Given the description of an element on the screen output the (x, y) to click on. 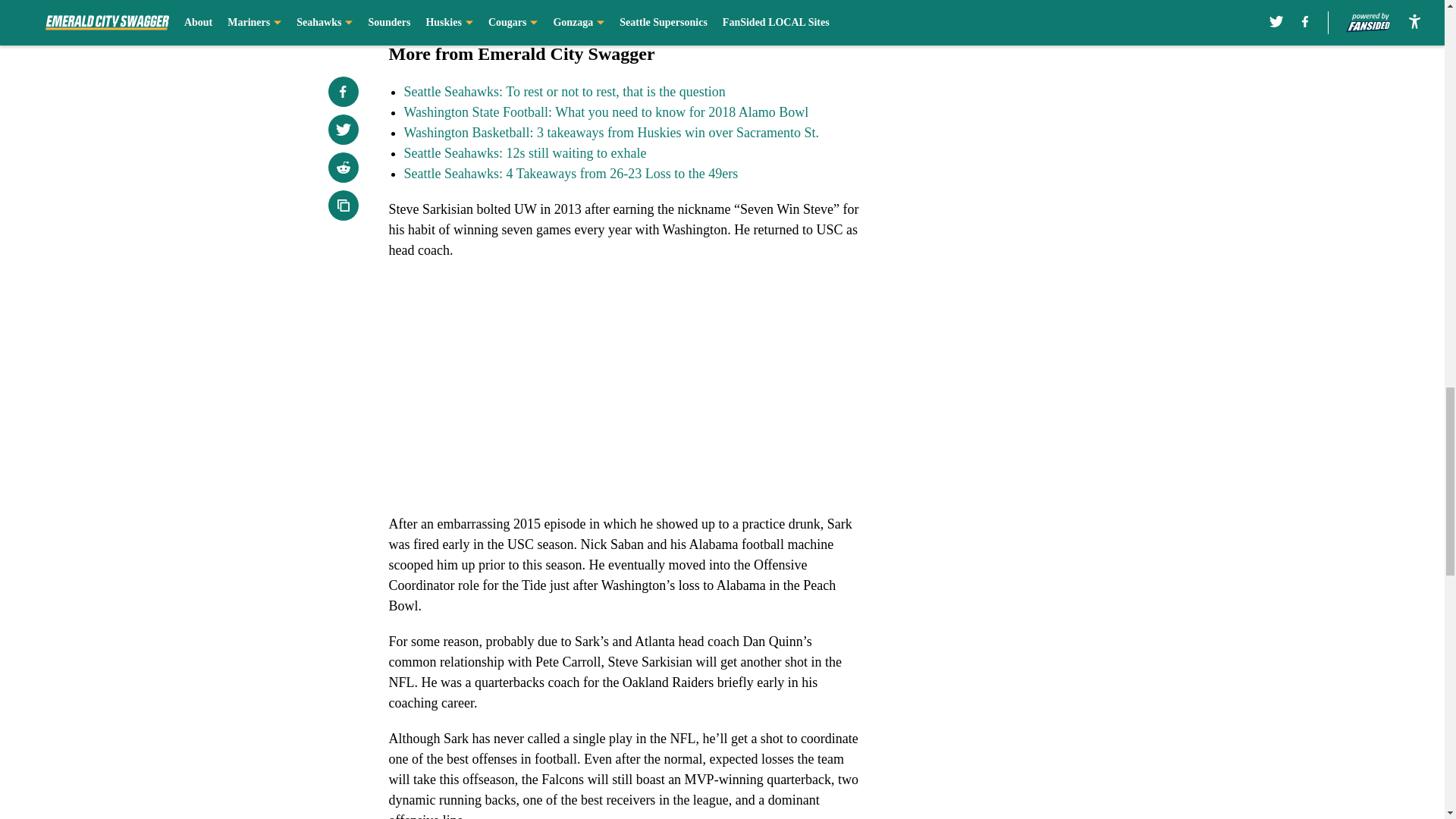
Seattle Seahawks: 4 Takeaways from 26-23 Loss to the 49ers (570, 173)
Seattle Seahawks: 12s still waiting to exhale (524, 152)
